Given the description of an element on the screen output the (x, y) to click on. 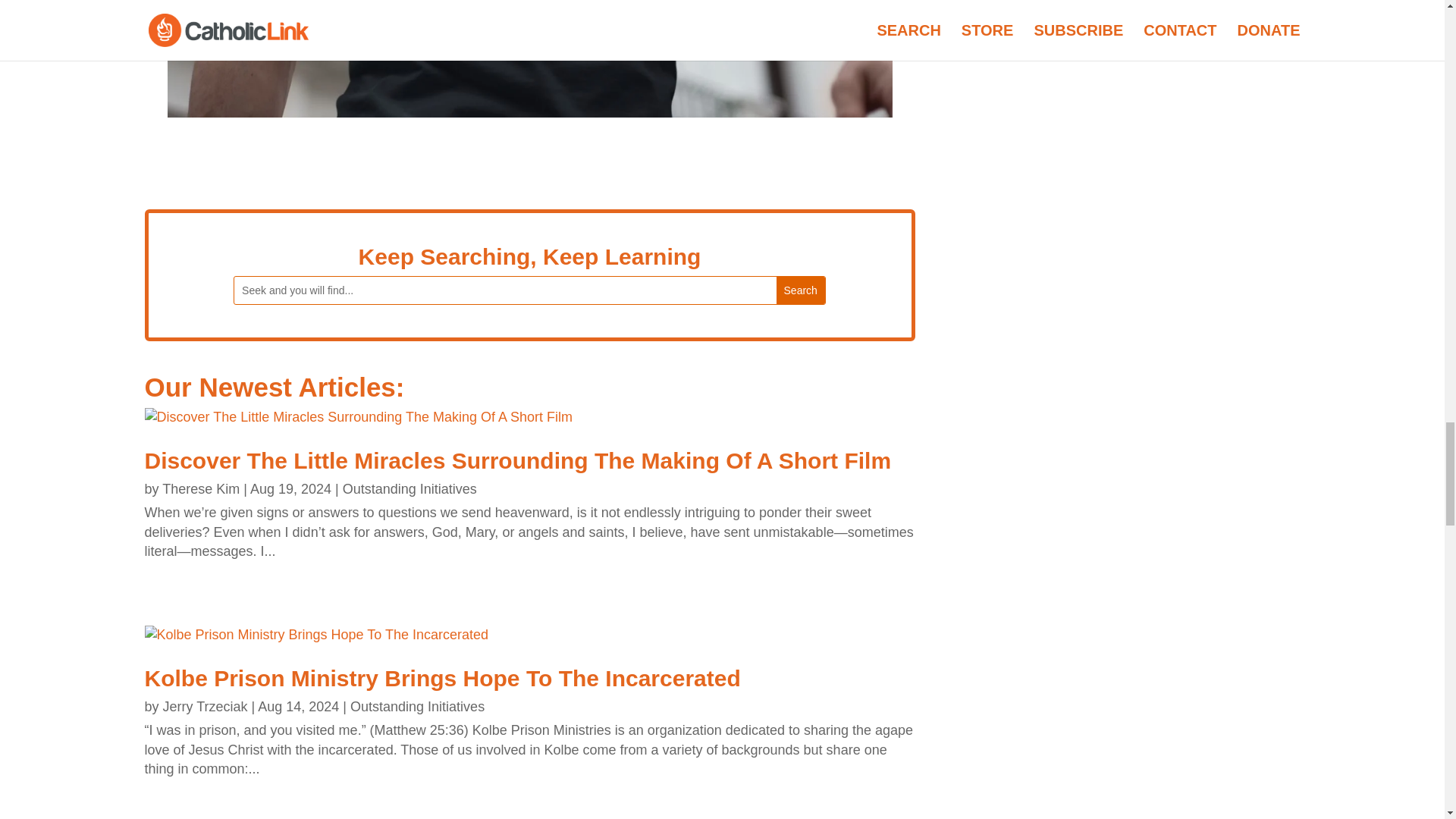
Posts by Therese Kim (200, 488)
Search (800, 289)
Posts by Jerry Trzeciak (205, 706)
Kolbe Prison Ministry Brings Hope To The Incarcerated (441, 678)
Search (800, 289)
Therese Kim (200, 488)
Search (800, 289)
Jerry Trzeciak (205, 706)
Outstanding Initiatives (409, 488)
